Given the description of an element on the screen output the (x, y) to click on. 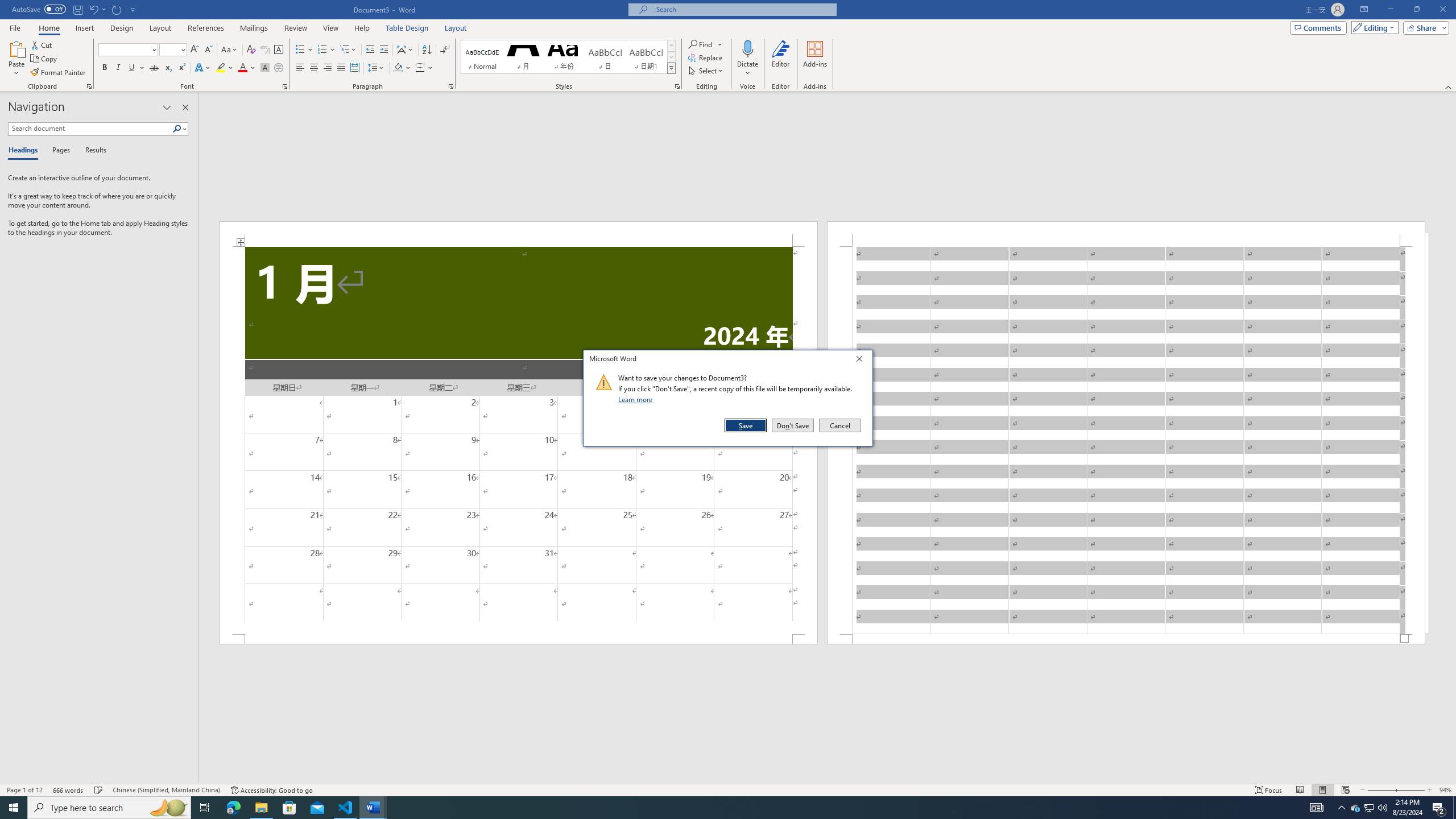
Word Count 666 words (68, 790)
Comments (1318, 27)
Close (862, 360)
Table Design (407, 28)
File Explorer - 1 running window (261, 807)
